Given the description of an element on the screen output the (x, y) to click on. 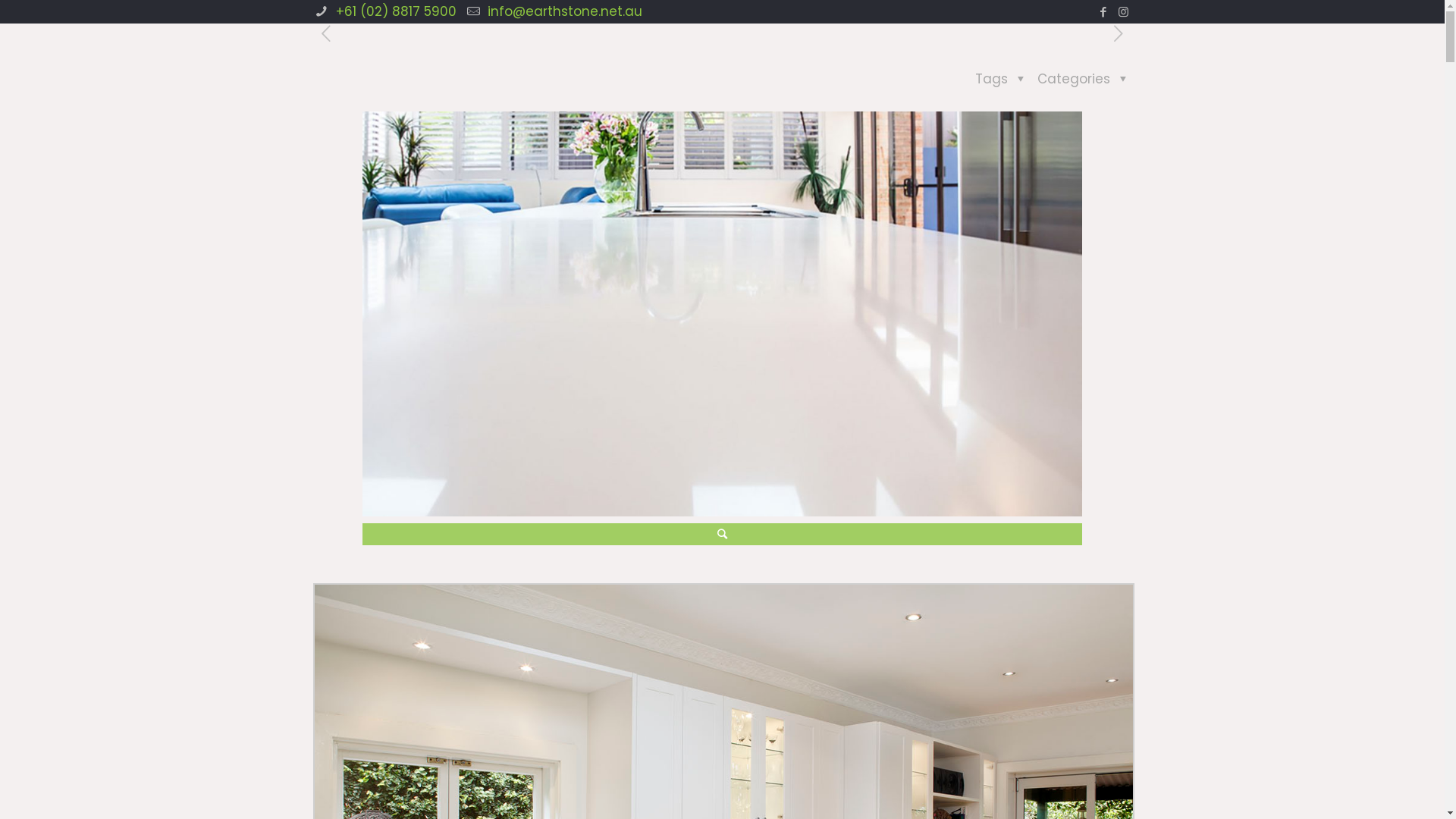
Instagram Element type: hover (1123, 11)
Facebook Element type: hover (1102, 11)
+61 (02) 8817 5900 Element type: text (394, 11)
info@earthstone.net.au Element type: text (562, 11)
